Given the description of an element on the screen output the (x, y) to click on. 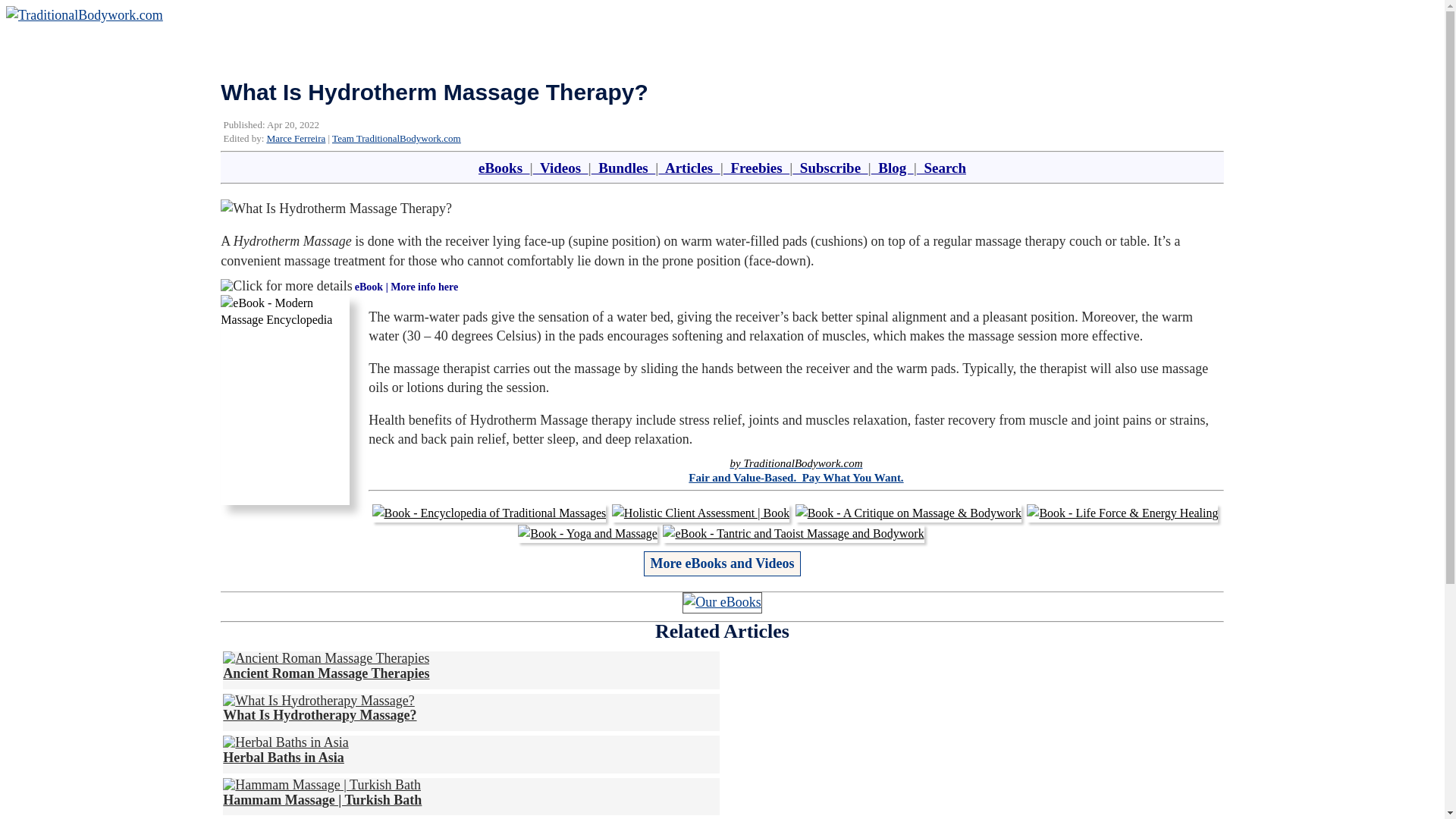
Ancient Roman Massage Therapies (325, 665)
  Articles   (688, 167)
  Bundles   (623, 167)
Team TraditionalBodywork.com (396, 138)
Book - Traditional Massage Encyclopedia (488, 513)
Herbal Baths in Asia (284, 749)
eBooks   (504, 167)
Marce Ferreira (296, 138)
eBook - Tantric and Taoist Massage and Bodywork (792, 533)
Ancient Roman Massage Therapies (325, 658)
